Given the description of an element on the screen output the (x, y) to click on. 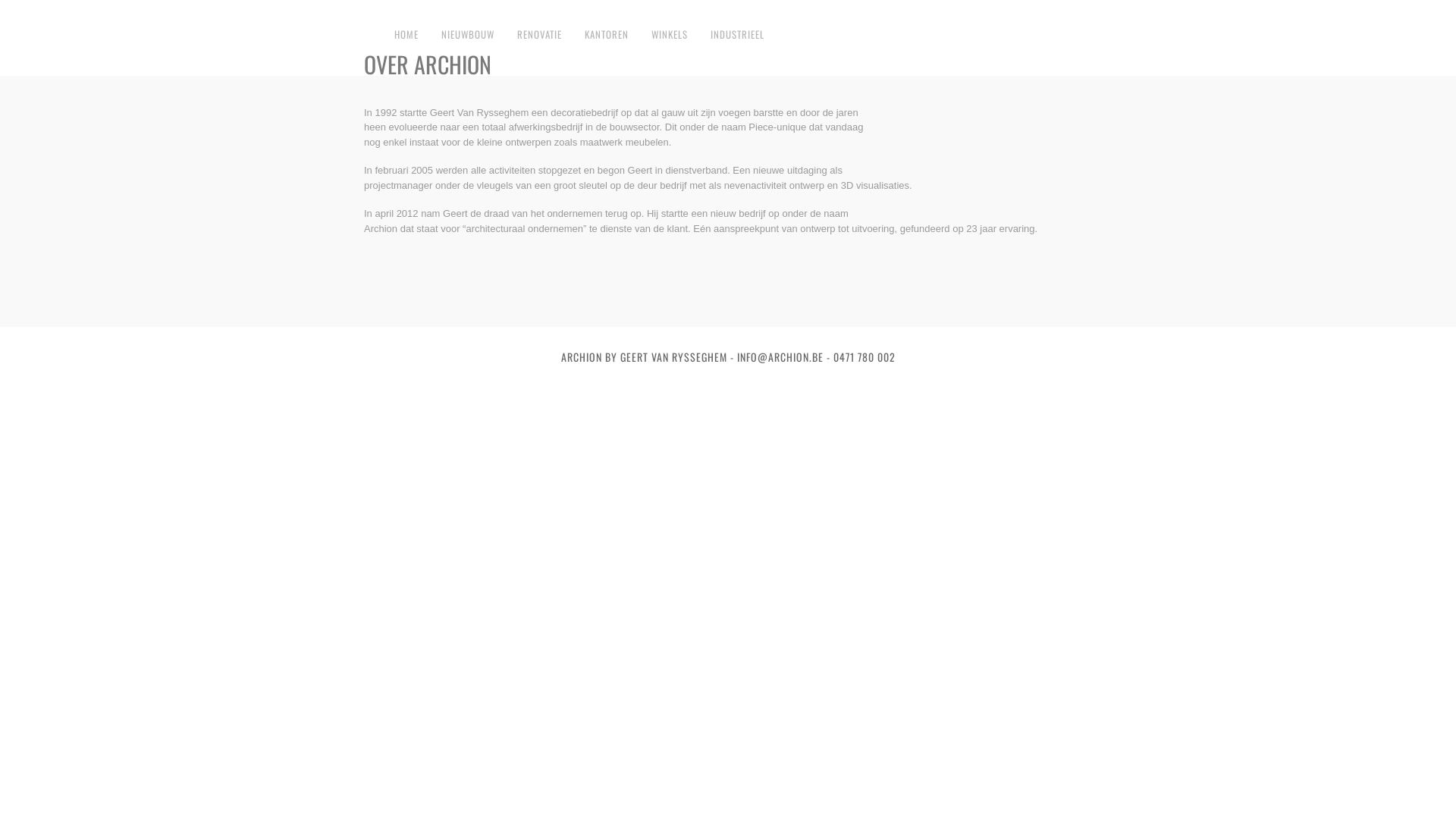
NIEUWBOUW Element type: text (467, 34)
HOME Element type: text (406, 34)
KANTOREN Element type: text (606, 34)
INDUSTRIEEL Element type: text (737, 34)
RENOVATIE Element type: text (539, 34)
WINKELS Element type: text (669, 34)
